Given the description of an element on the screen output the (x, y) to click on. 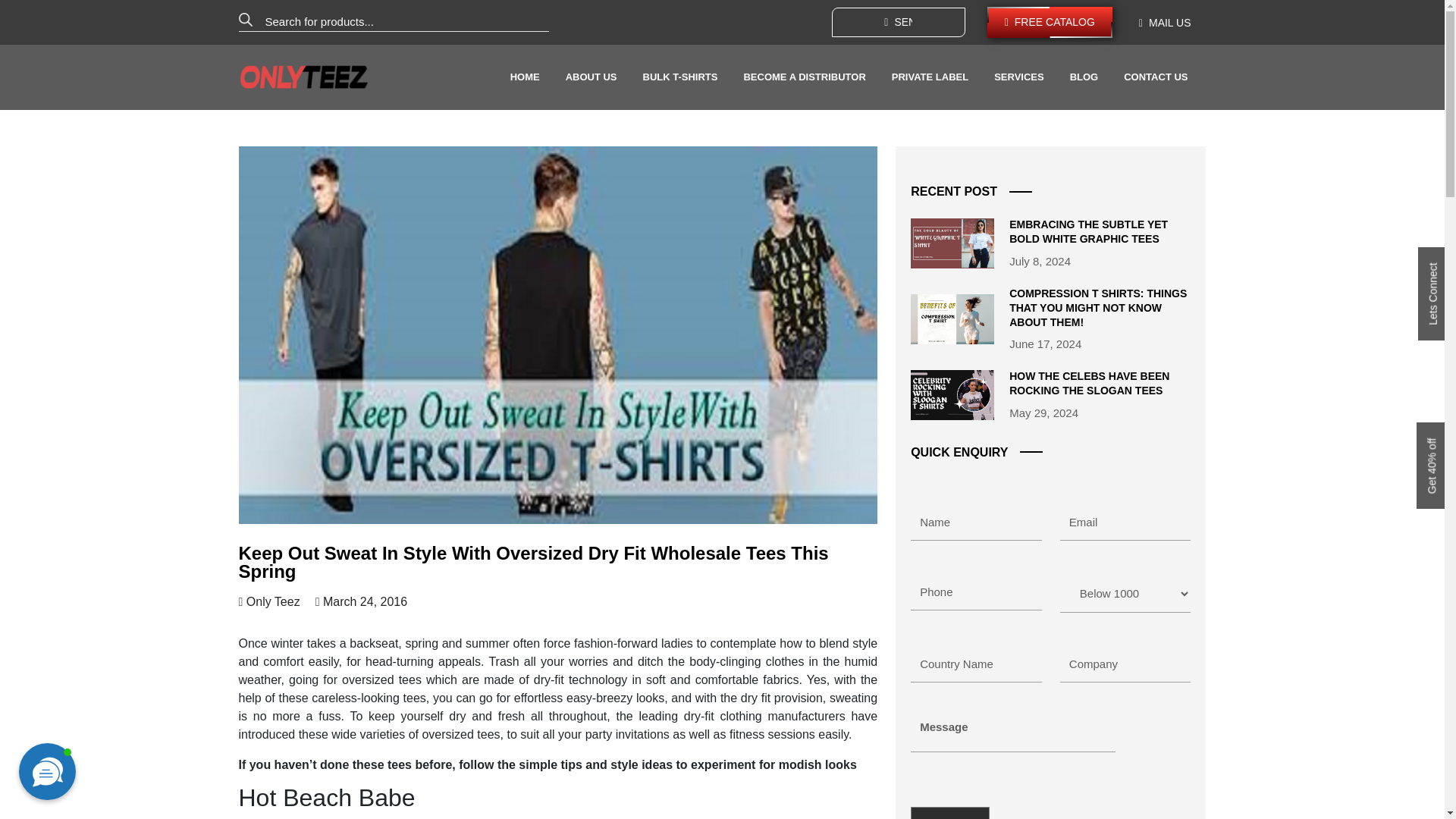
PRIVATE LABEL (929, 77)
FREE CATALOG (1049, 21)
Submit (950, 812)
CONTACT US (1156, 77)
Bulk T-Shirts (680, 77)
BECOME A DISTRIBUTOR (803, 77)
SEND YOUR IDEAS (898, 21)
BULK T-SHIRTS (680, 77)
MAIL US (1165, 23)
